Given the description of an element on the screen output the (x, y) to click on. 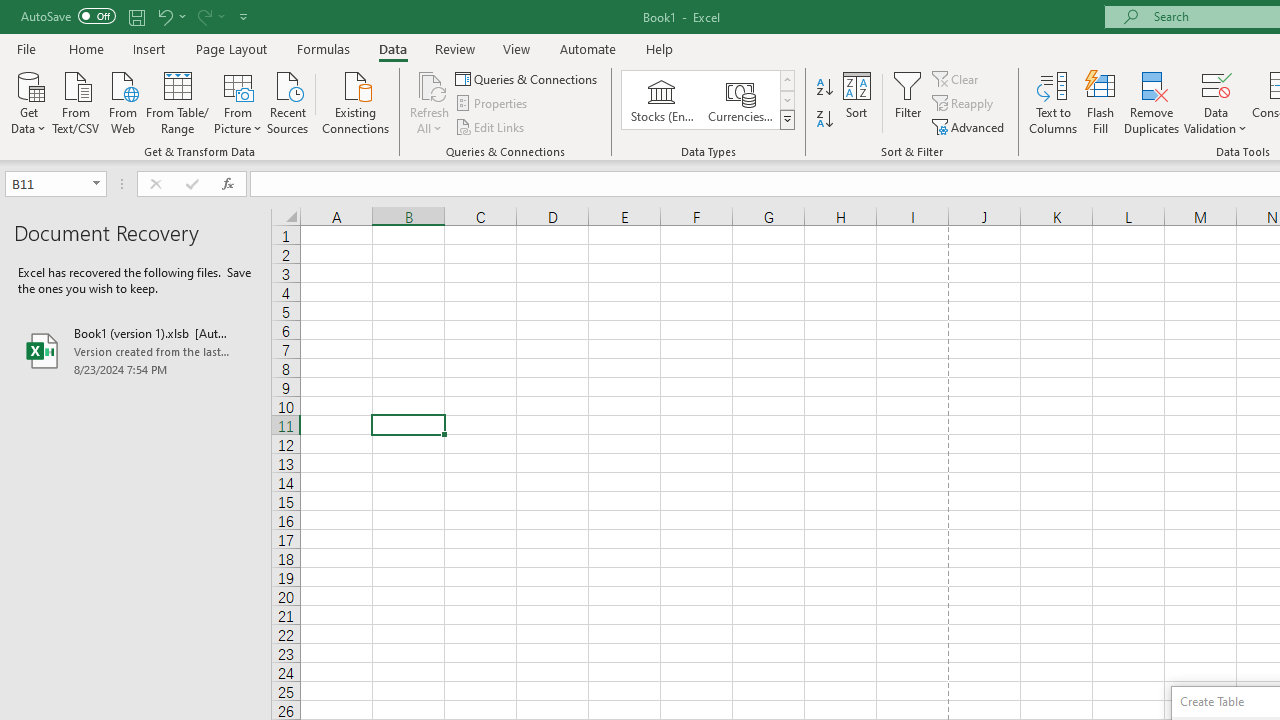
Advanced... (970, 126)
Currencies (English) (740, 100)
From Web (122, 101)
Sort... (856, 102)
Data Types (786, 120)
Queries & Connections (527, 78)
